Given the description of an element on the screen output the (x, y) to click on. 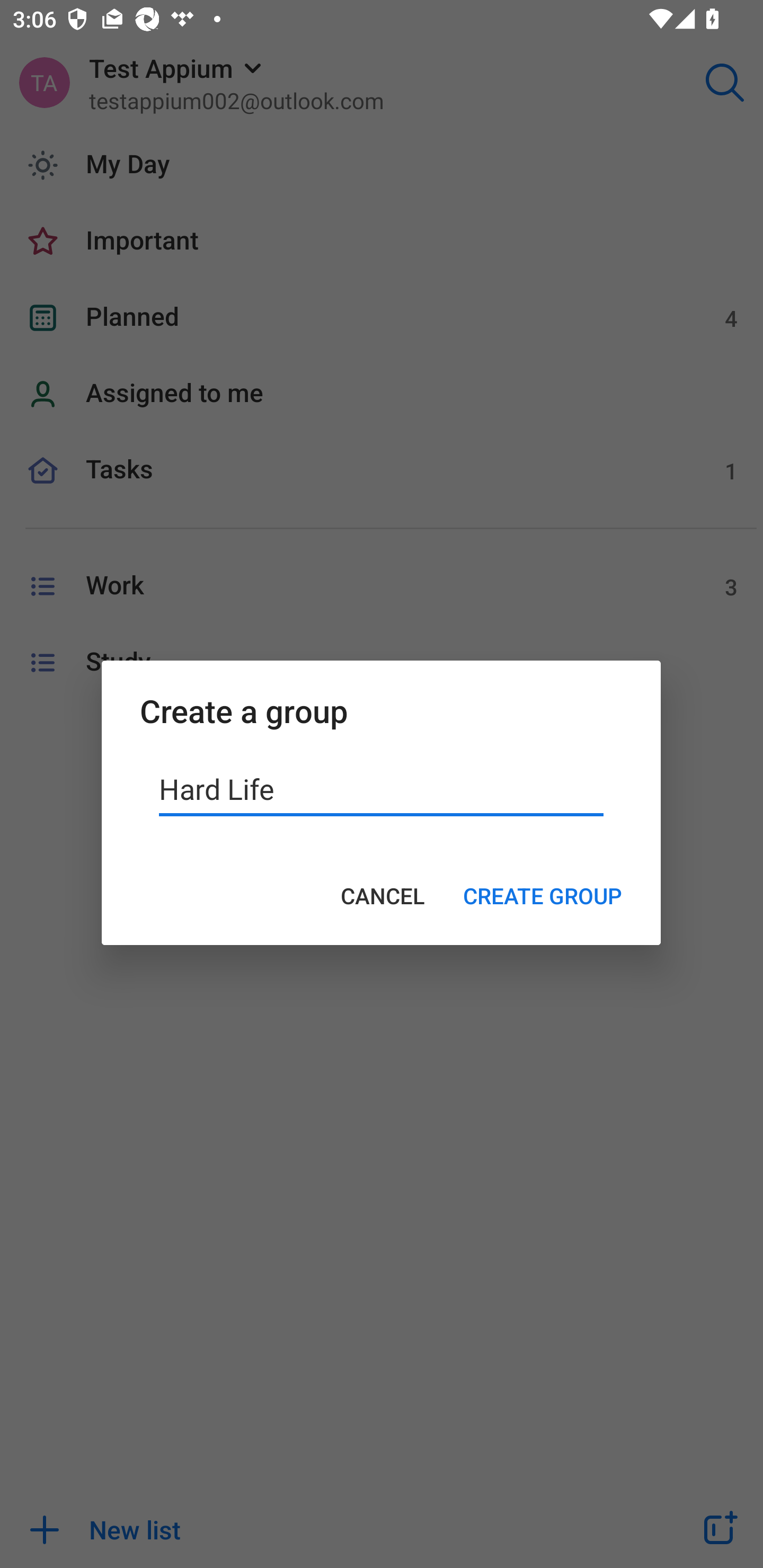
CREATE GROUP (542, 895)
